Given the description of an element on the screen output the (x, y) to click on. 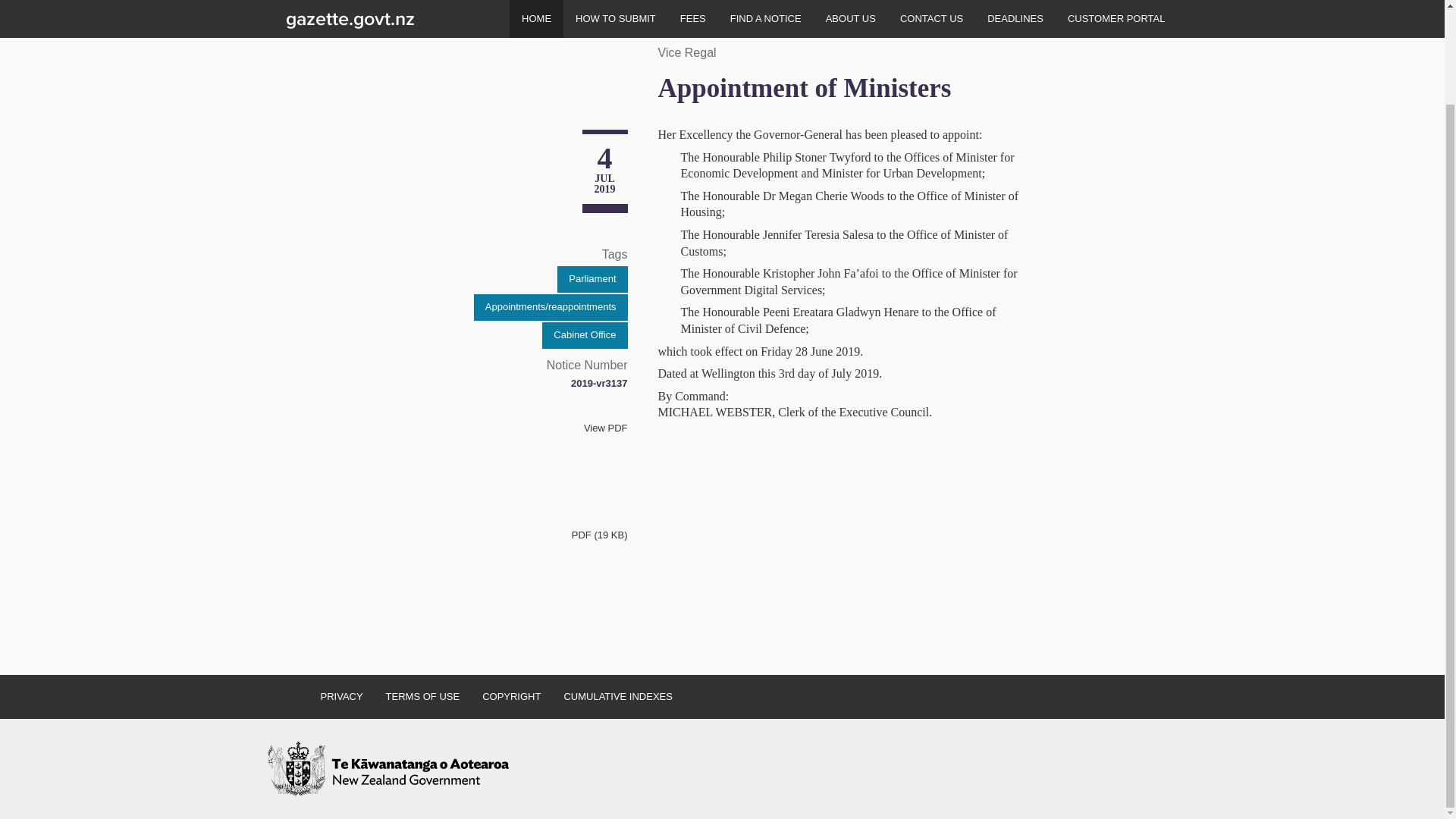
TERMS OF USE (422, 696)
CUMULATIVE INDEXES (617, 696)
COPYRIGHT (510, 696)
PRIVACY (341, 696)
Find (1128, 11)
Cabinet Office (584, 335)
Find (1128, 11)
Parliament (592, 279)
